Given the description of an element on the screen output the (x, y) to click on. 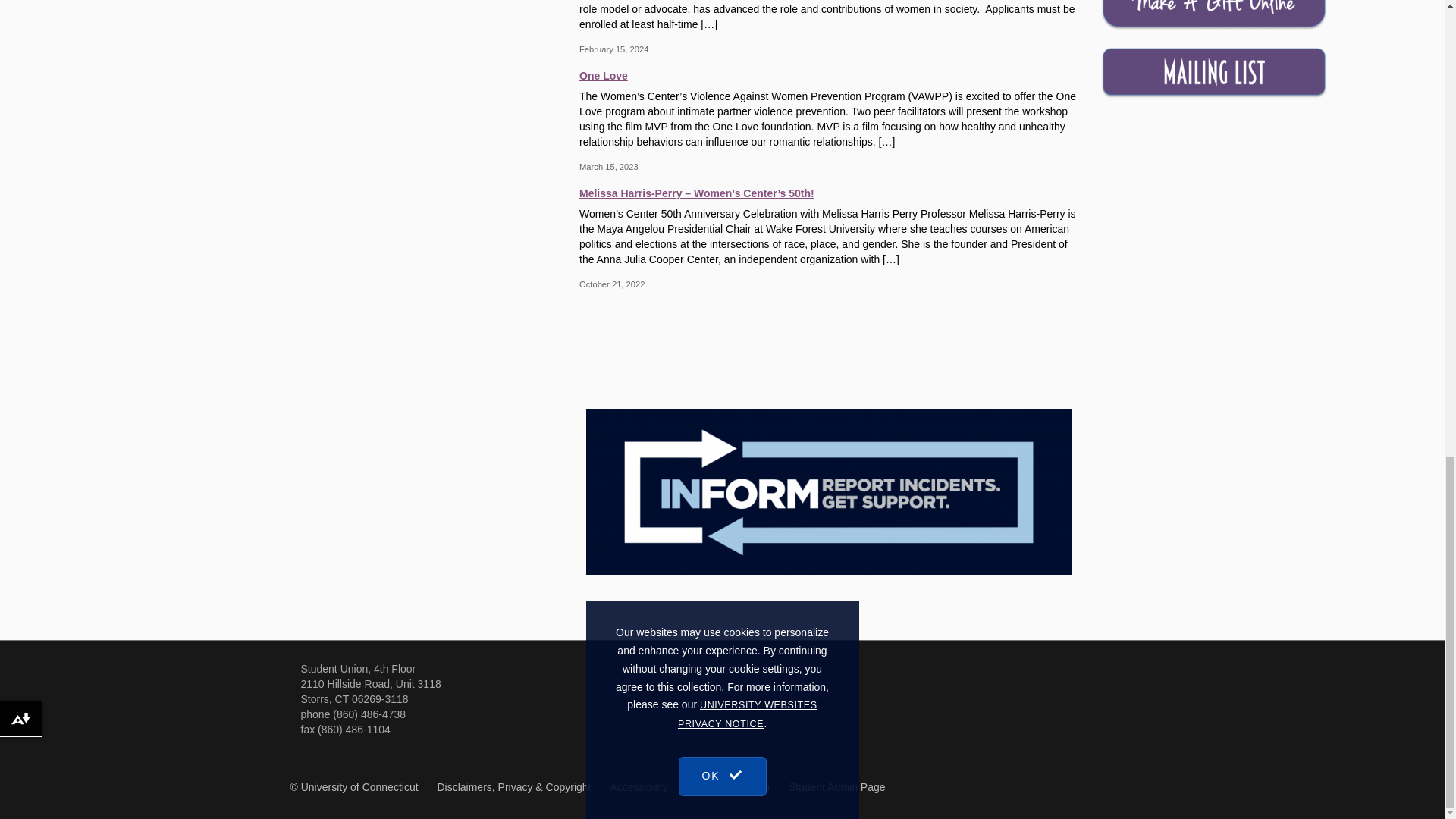
One Love (828, 73)
